Given the description of an element on the screen output the (x, y) to click on. 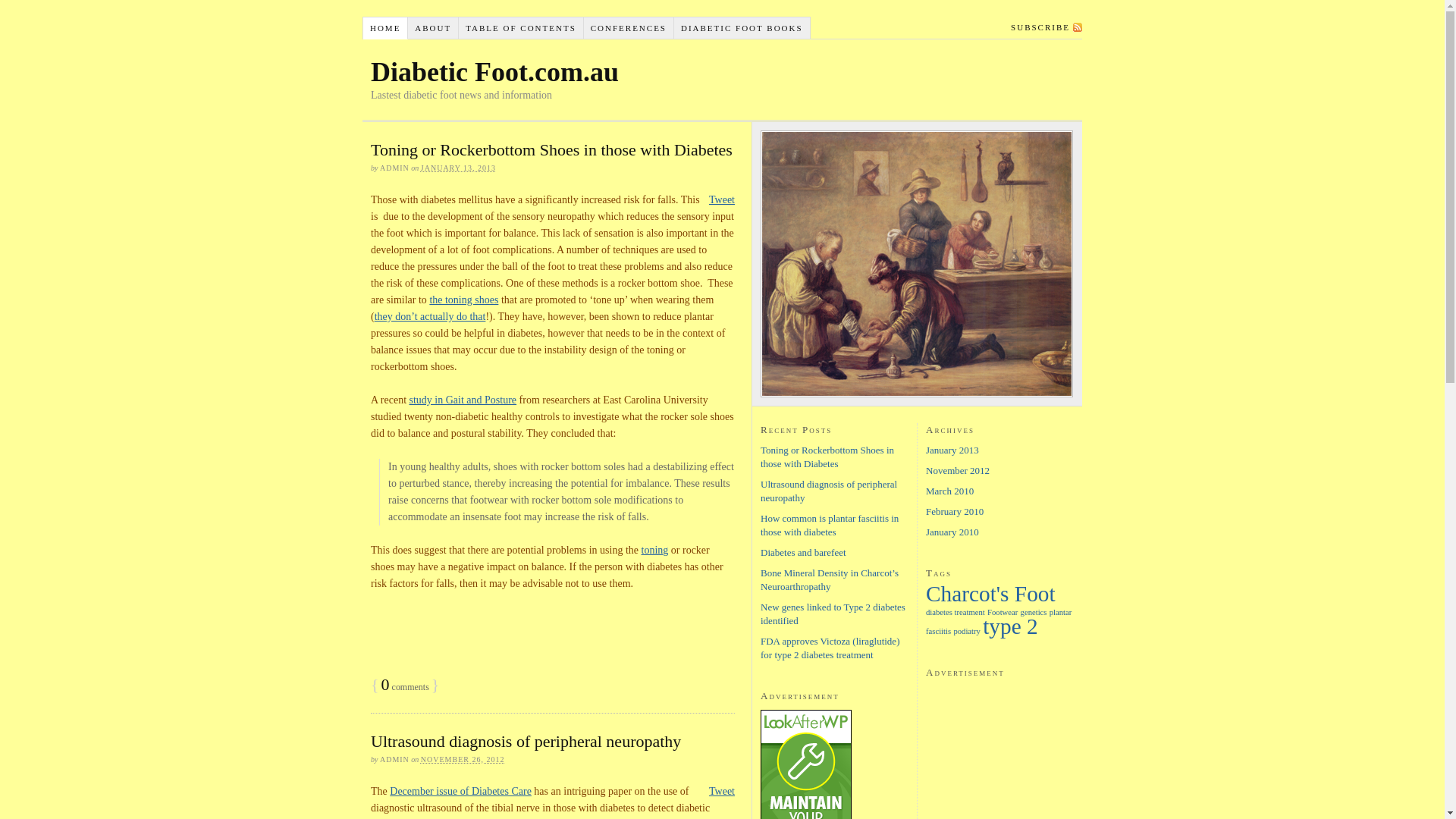
DIABETIC FOOT BOOKS Element type: text (742, 27)
HOME Element type: text (385, 27)
Charcot's Foot Element type: text (990, 593)
SUBSCRIBE Element type: text (1043, 26)
TABLE OF CONTENTS Element type: text (520, 27)
December issue of Diabetes Care Element type: text (460, 791)
ABOUT Element type: text (432, 27)
Toning or Rockerbottom Shoes in those with Diabetes Element type: text (827, 456)
diabetes treatment Element type: text (955, 612)
the toning shoes Element type: text (463, 299)
Diabetes and barefeet Element type: text (803, 552)
0 comments Element type: text (405, 686)
January 2010 Element type: text (952, 531)
CONFERENCES Element type: text (628, 27)
toning Element type: text (654, 549)
Diabetic Foot.com.au Element type: text (494, 71)
January 2013 Element type: text (952, 449)
February 2010 Element type: text (954, 511)
plantar fasciitis Element type: text (998, 621)
Tweet Element type: text (721, 791)
genetics Element type: text (1033, 612)
study in Gait and Posture Element type: text (463, 399)
Toning or Rockerbottom Shoes in those with Diabetes Element type: text (551, 149)
podiatry Element type: text (966, 631)
Advertisement Element type: hover (547, 631)
Ultrasound diagnosis of peripheral neuropathy Element type: text (525, 740)
New genes linked to Type 2 diabetes identified Element type: text (832, 613)
type 2 Element type: text (1010, 626)
Tweet Element type: text (721, 199)
Footwear Element type: text (1002, 612)
How common is plantar fasciitis in those with diabetes Element type: text (829, 524)
November 2012 Element type: text (957, 470)
Ultrasound diagnosis of peripheral neuropathy Element type: text (828, 490)
March 2010 Element type: text (949, 490)
